Given the description of an element on the screen output the (x, y) to click on. 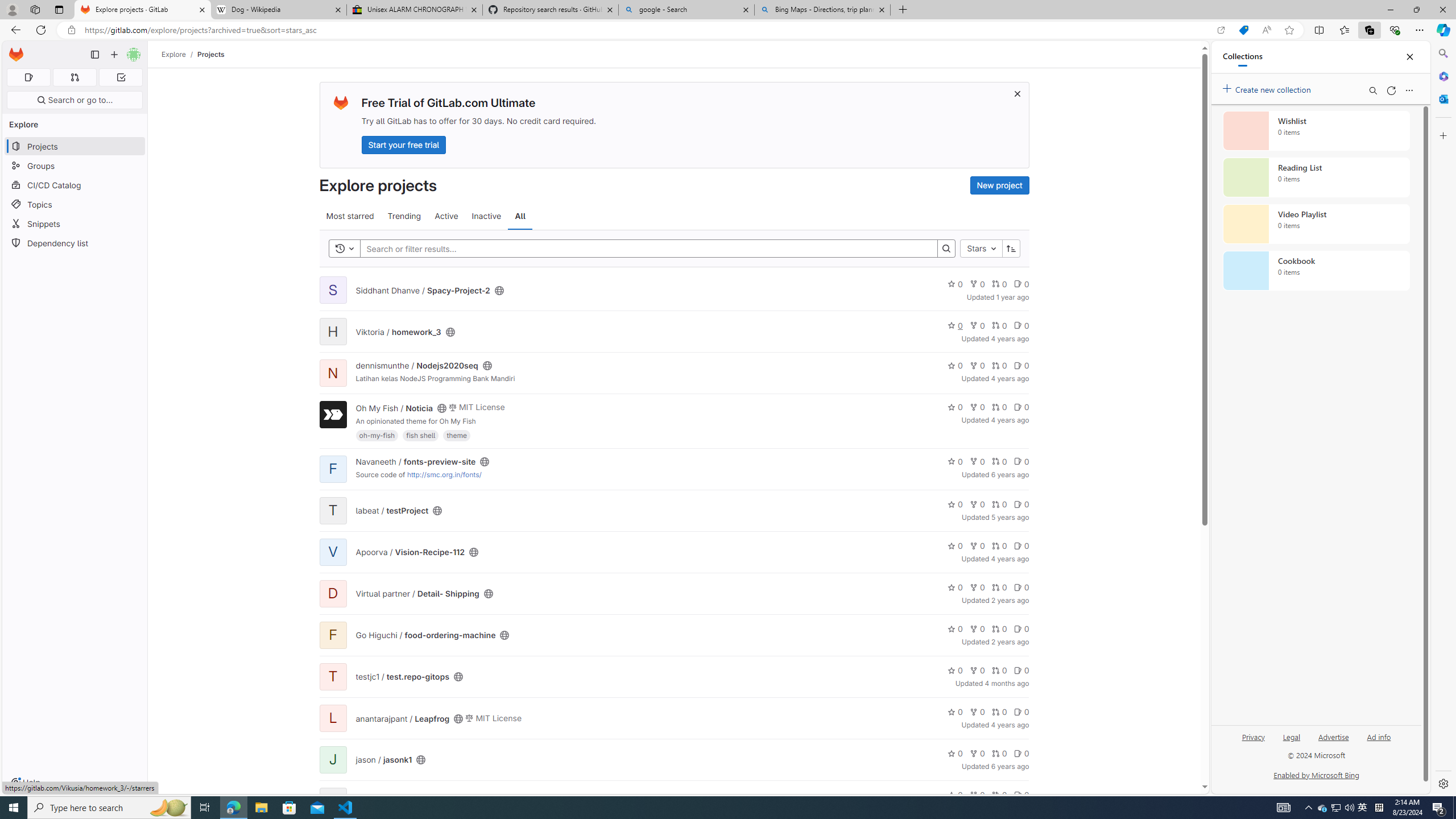
Shopping in Microsoft Edge (1243, 29)
Topics (74, 203)
Legal (1292, 741)
Stars (981, 248)
T (332, 676)
Open in app (1220, 29)
Video Playlist collection, 0 items (1316, 223)
Dependency list (74, 242)
Explore/ (179, 53)
0 (1021, 794)
Legal (1291, 736)
Homepage (16, 54)
Ttestjc1 / test.repo-gitops0000Updated 4 months ago (673, 676)
